Given the description of an element on the screen output the (x, y) to click on. 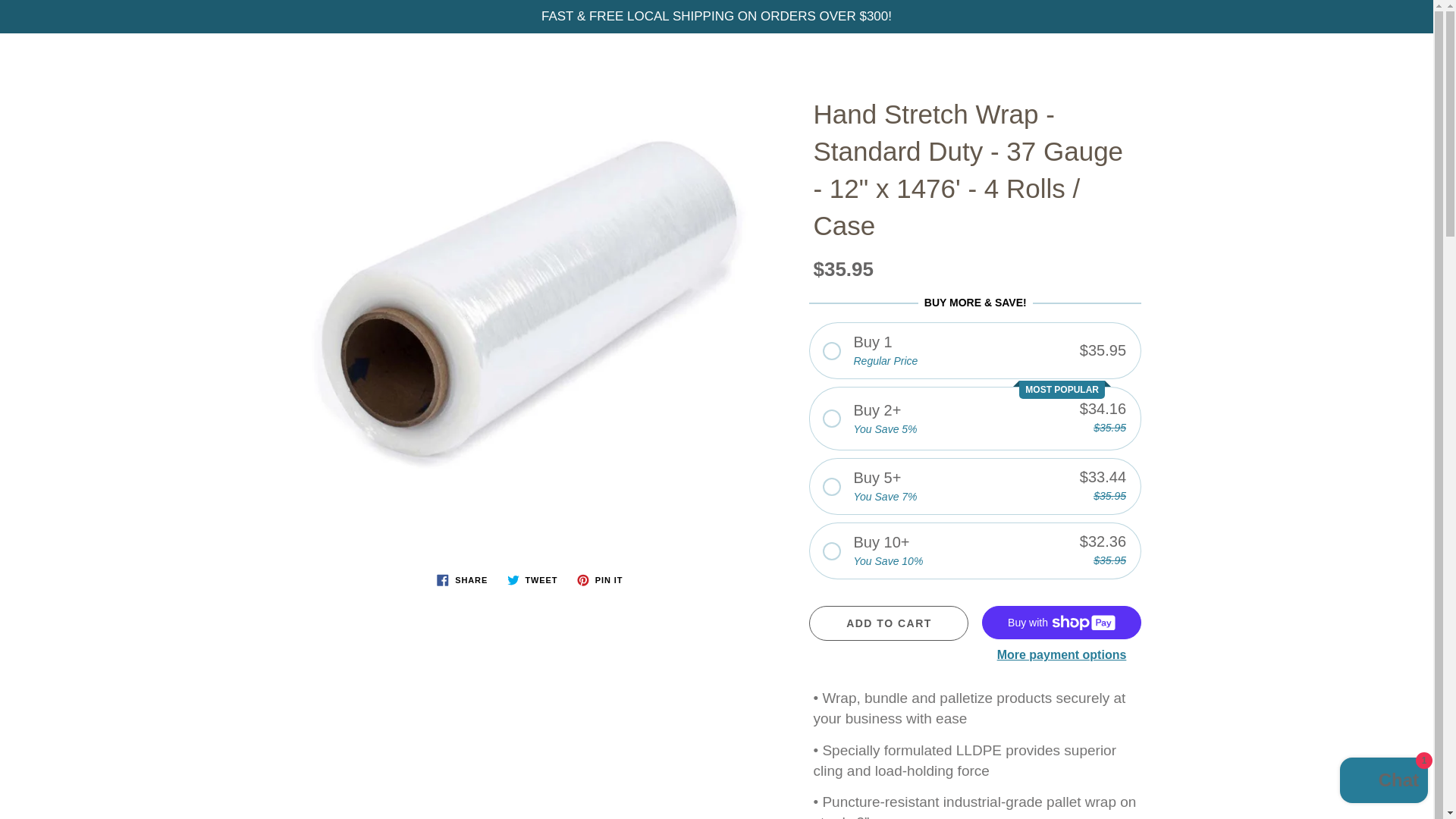
Tweet on Twitter (532, 579)
Search (28, 59)
OUR PRODUCTS (495, 128)
Share on Facebook (461, 579)
You have 0 items in your cart (1406, 59)
My account (1368, 59)
Shopify online store chat (1383, 781)
Pin on Pinterest (599, 579)
